Given the description of an element on the screen output the (x, y) to click on. 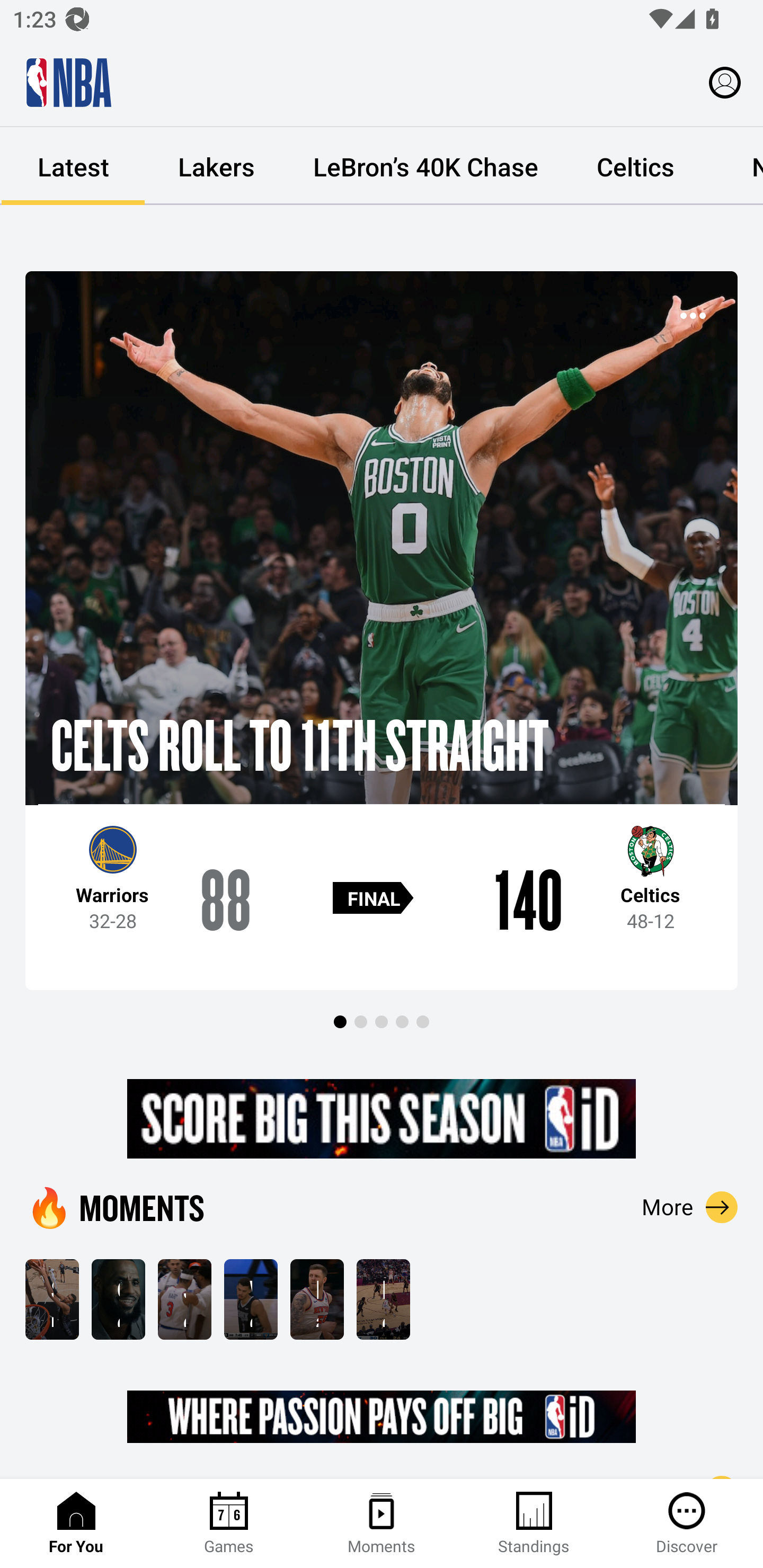
Profile (724, 81)
Lakers (215, 166)
LeBron’s 40K Chase (425, 166)
Celtics (634, 166)
More (689, 1207)
Sunday's Top Plays In 30 Seconds ⏱ (51, 1299)
Hartenstein Drops The Hammer 🔨 (317, 1299)
Games (228, 1523)
Moments (381, 1523)
Standings (533, 1523)
Discover (686, 1523)
